Given the description of an element on the screen output the (x, y) to click on. 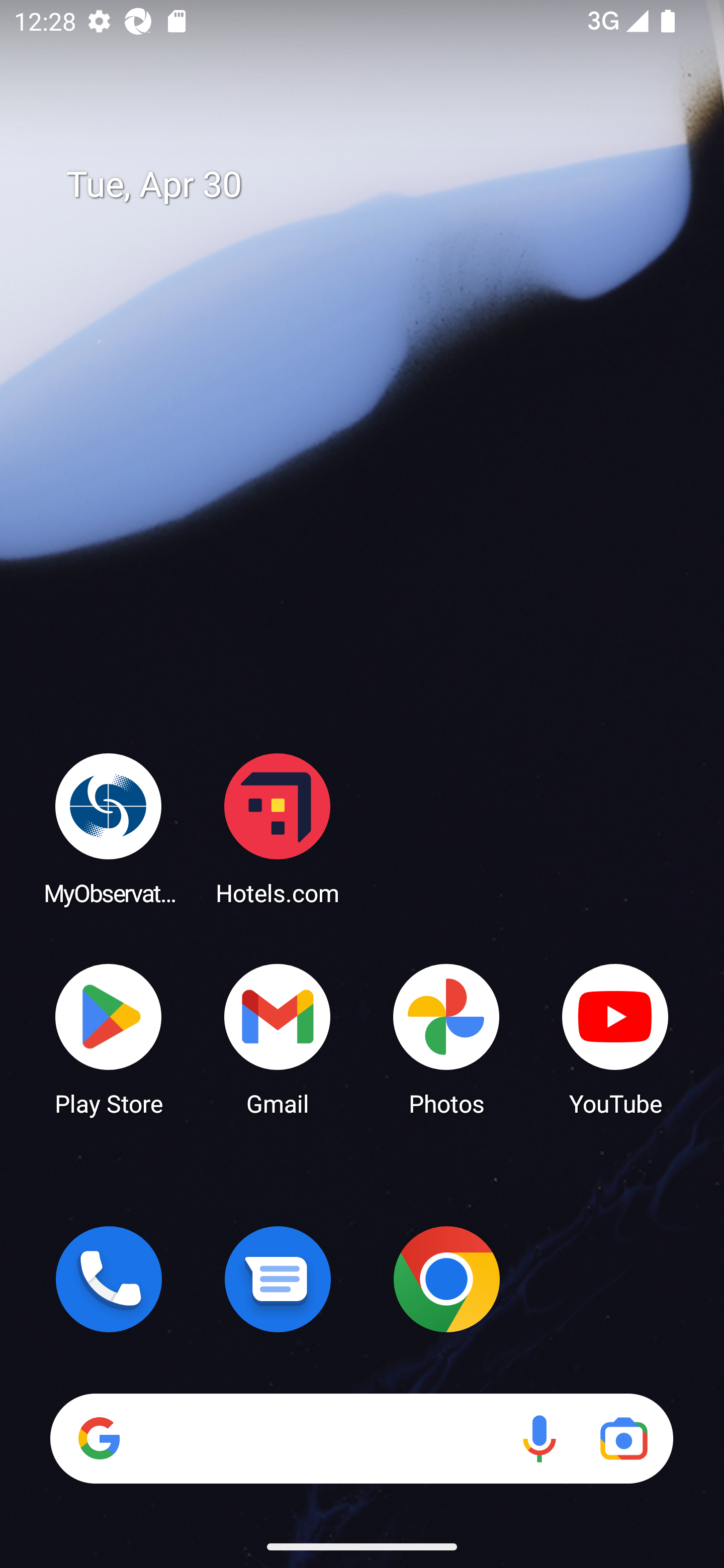
Tue, Apr 30 (375, 184)
MyObservatory (108, 828)
Hotels.com (277, 828)
Play Store (108, 1038)
Gmail (277, 1038)
Photos (445, 1038)
YouTube (615, 1038)
Phone (108, 1279)
Messages (277, 1279)
Chrome (446, 1279)
Voice search (539, 1438)
Google Lens (623, 1438)
